Given the description of an element on the screen output the (x, y) to click on. 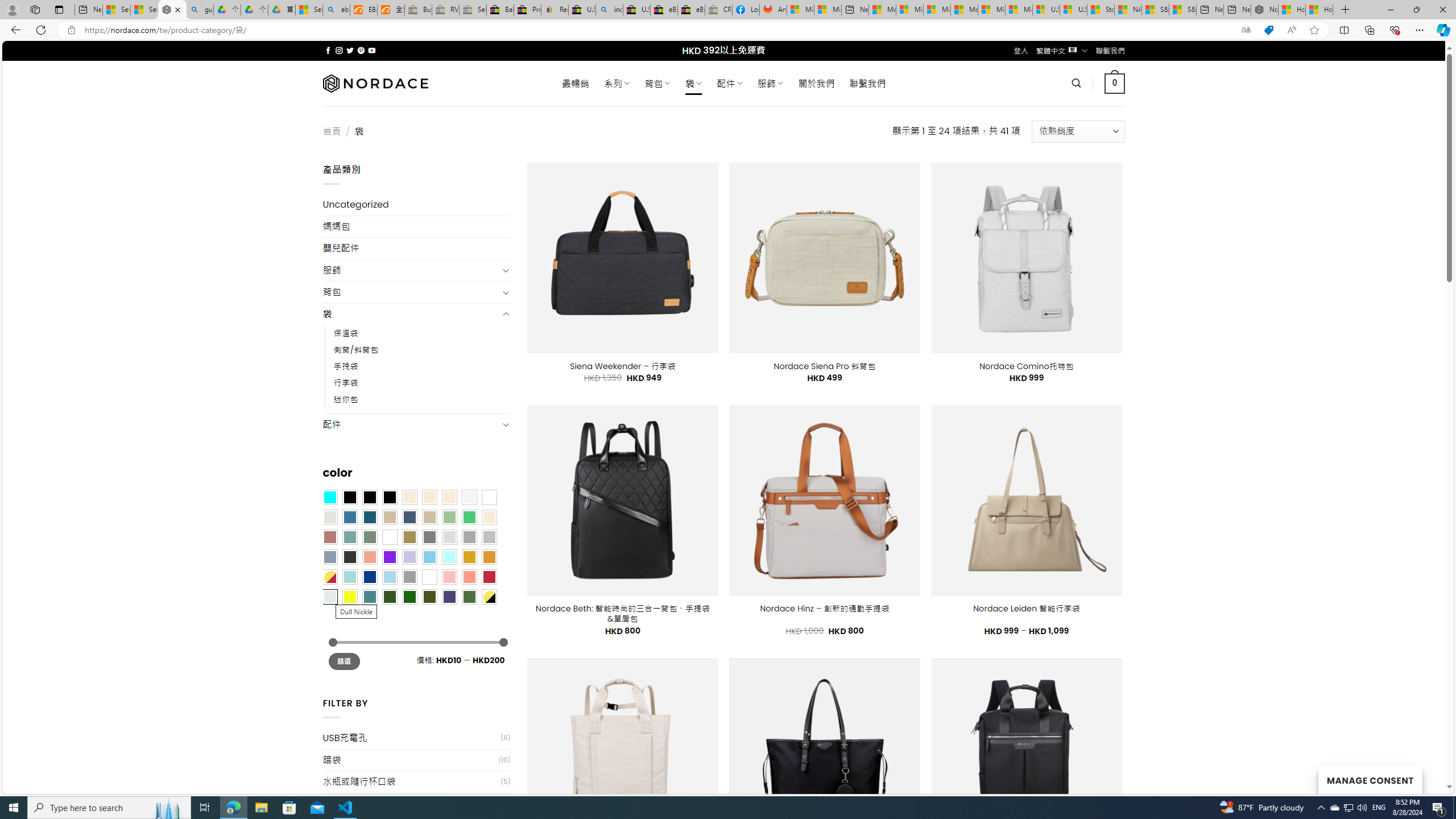
Sell worldwide with eBay - Sleeping (473, 9)
Show translate options (1245, 29)
Microsoft account | Home (936, 9)
eBay Inc. Reports Third Quarter 2023 Results (691, 9)
